Given the description of an element on the screen output the (x, y) to click on. 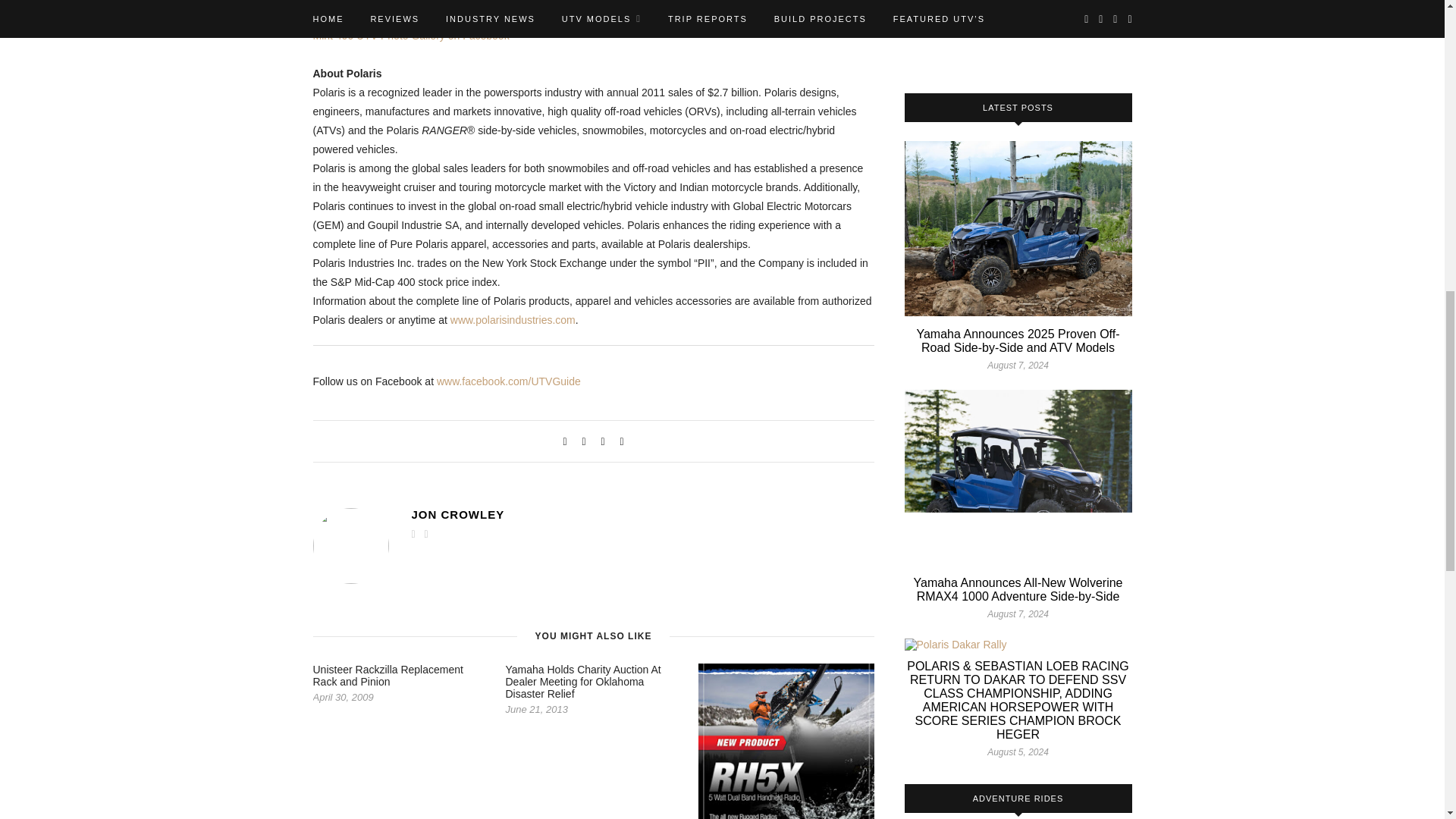
JON CROWLEY (641, 513)
Mint 400 UTV Photo Gallery on Facebook (410, 35)
YouTube video player (1017, 32)
Posts by Jon Crowley (641, 513)
Unisteer Rackzilla Replacement Rack and Pinion (388, 675)
Mint 400 UTV Race Report (376, 16)
www.polarisindustries.com (512, 319)
